Given the description of an element on the screen output the (x, y) to click on. 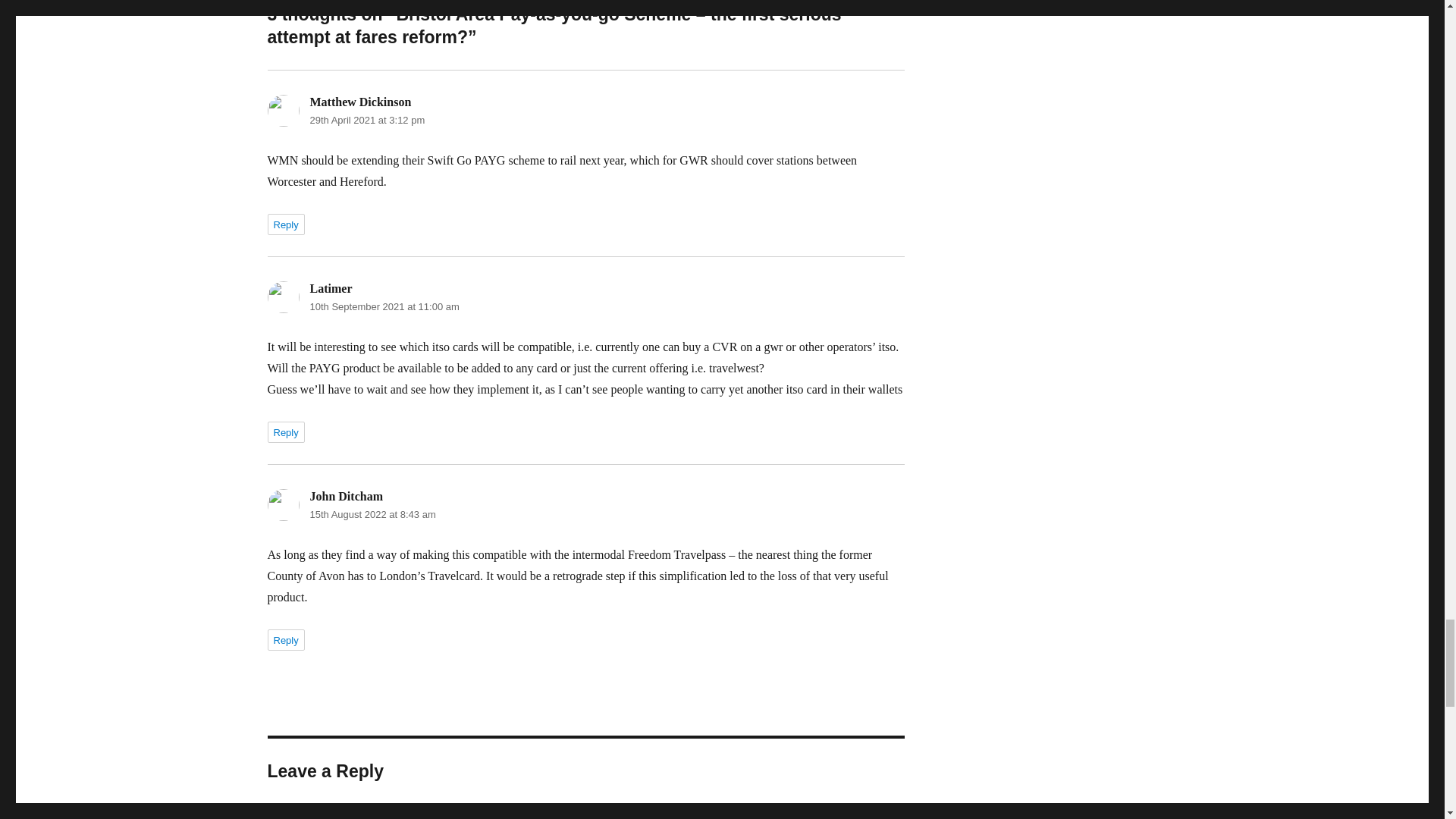
10th September 2021 at 11:00 am (383, 306)
Reply (285, 639)
29th April 2021 at 3:12 pm (366, 120)
15th August 2022 at 8:43 am (371, 514)
Reply (285, 432)
Reply (285, 224)
